Given the description of an element on the screen output the (x, y) to click on. 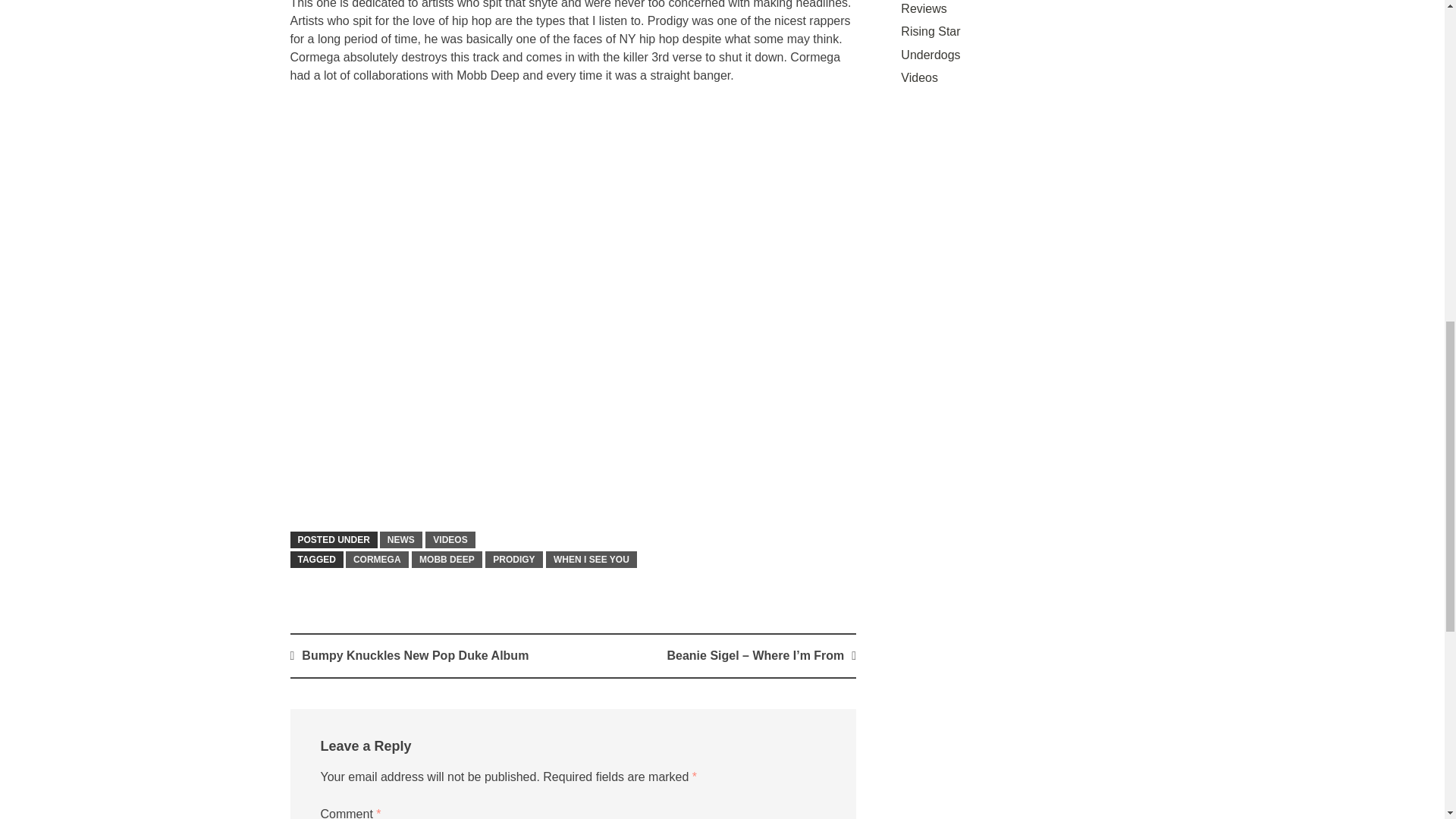
Videos (919, 77)
WHEN I SEE YOU (591, 559)
VIDEOS (449, 539)
PRODIGY (512, 559)
Reviews (923, 8)
Rising Star (930, 31)
MOBB DEEP (446, 559)
Underdogs (930, 54)
Bumpy Knuckles New Pop Duke Album (414, 655)
CORMEGA (377, 559)
